Given the description of an element on the screen output the (x, y) to click on. 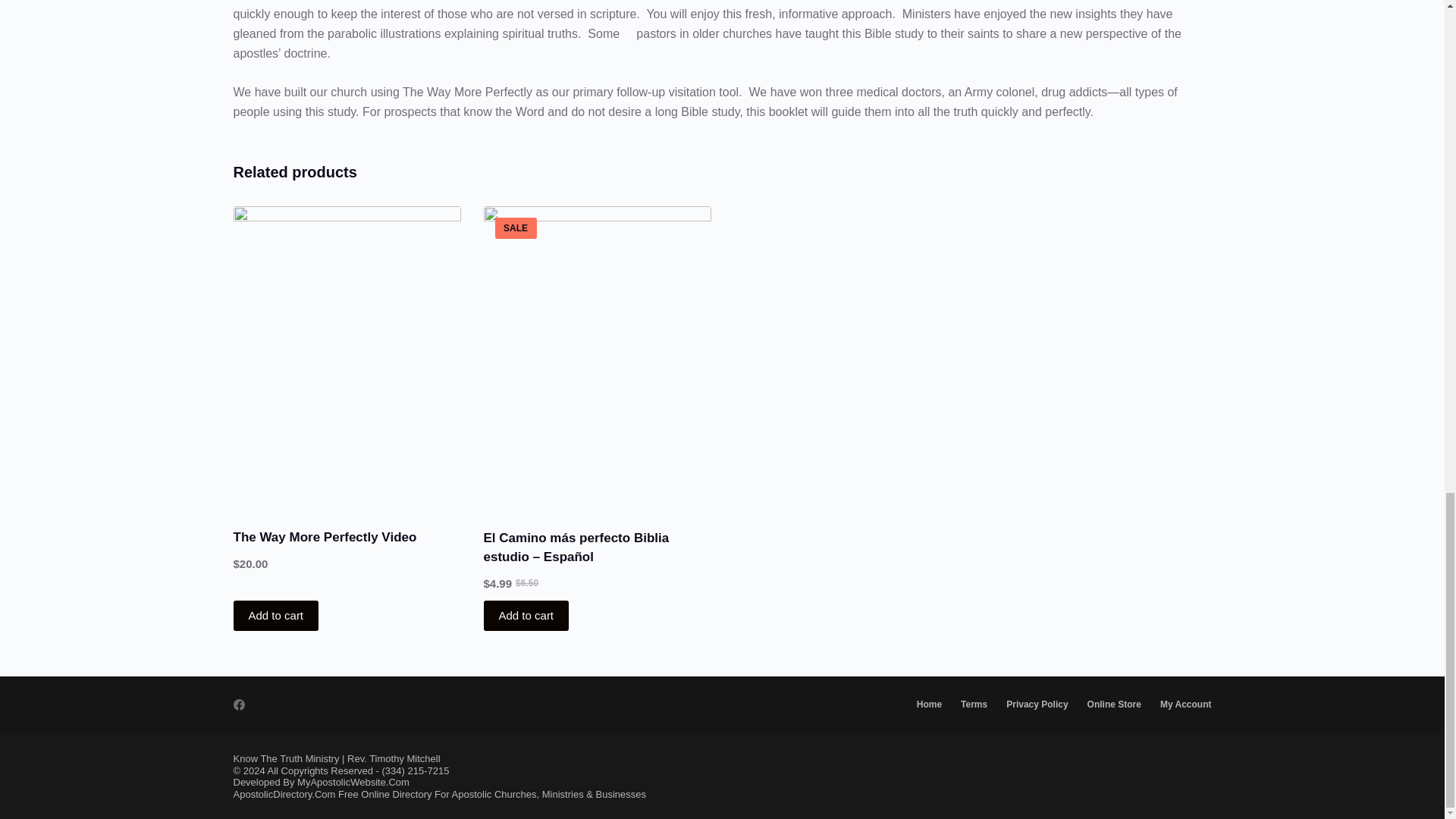
The Way More Perfectly Video (324, 536)
Terms (974, 705)
Privacy Policy (1037, 705)
Add to cart (526, 615)
Home (928, 705)
Add to cart (275, 615)
